Given the description of an element on the screen output the (x, y) to click on. 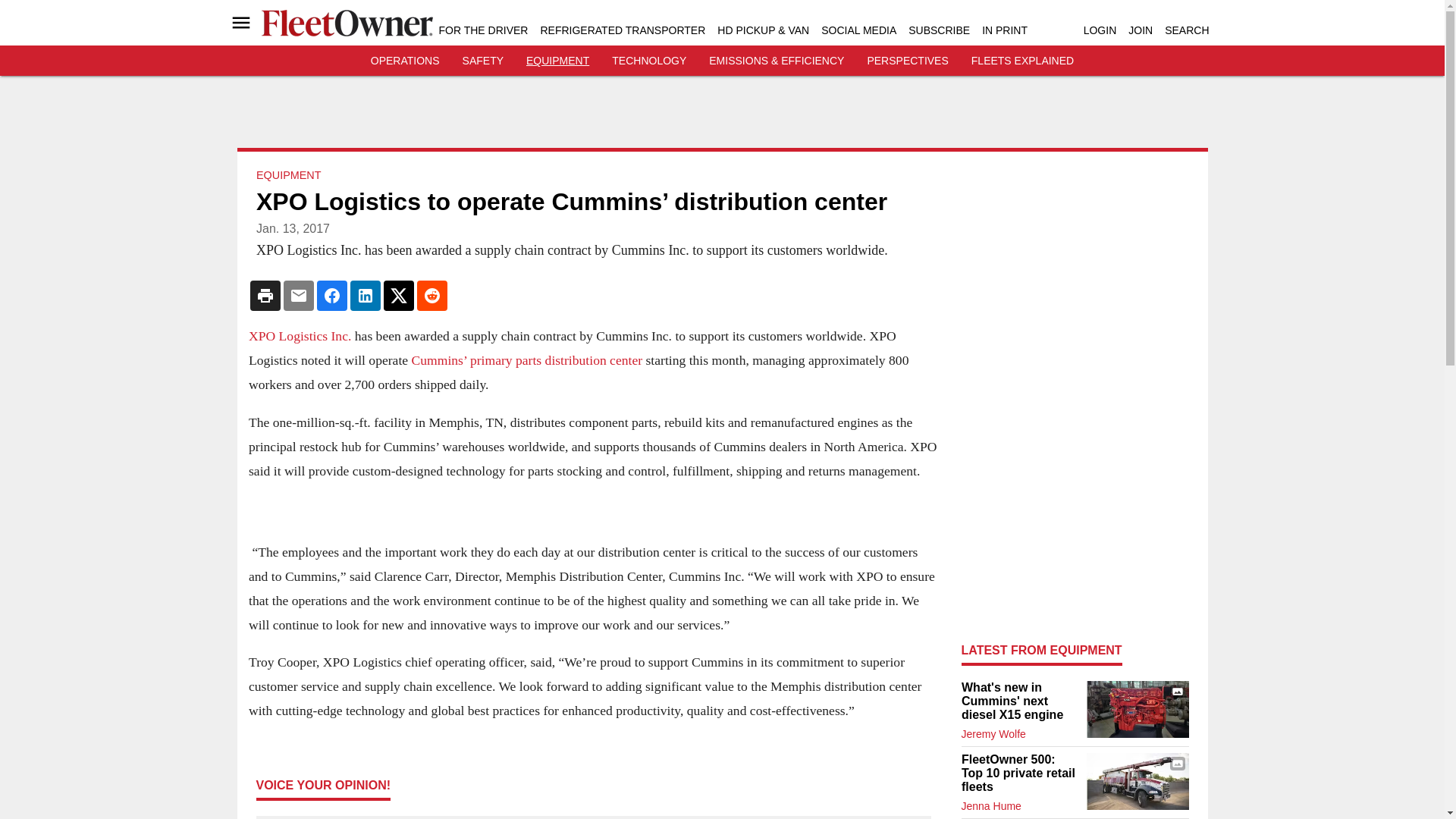
EQUIPMENT (557, 60)
SEARCH (1186, 30)
OPERATIONS (405, 60)
FLEETS EXPLAINED (1022, 60)
SOCIAL MEDIA (858, 30)
JOIN (1140, 30)
REFRIGERATED TRANSPORTER (622, 30)
SAFETY (483, 60)
LOGIN (1099, 30)
IN PRINT (1004, 30)
